Given the description of an element on the screen output the (x, y) to click on. 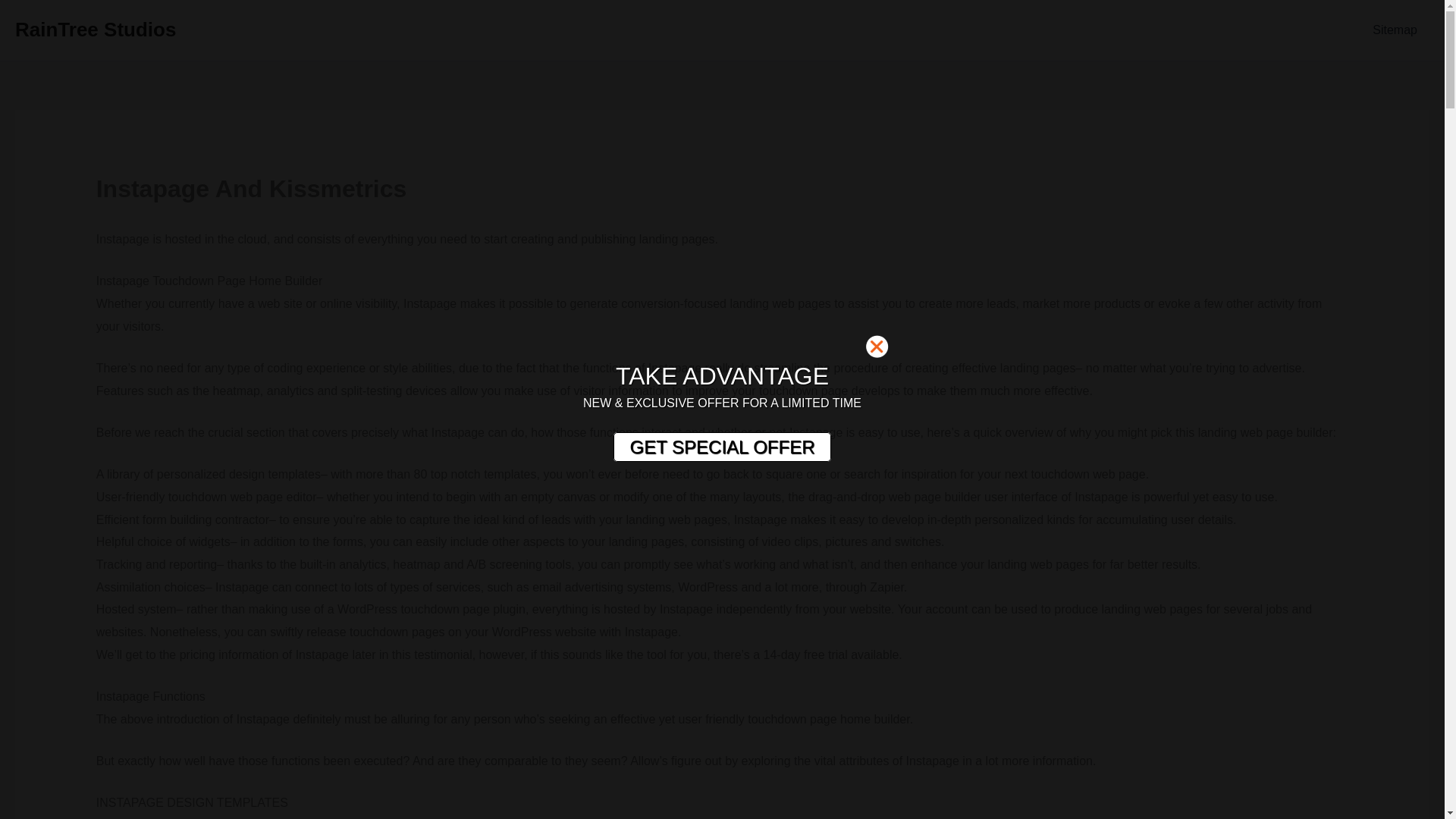
Sitemap (1394, 30)
RainTree Studios (95, 29)
GET SPECIAL OFFER (720, 446)
